Given the description of an element on the screen output the (x, y) to click on. 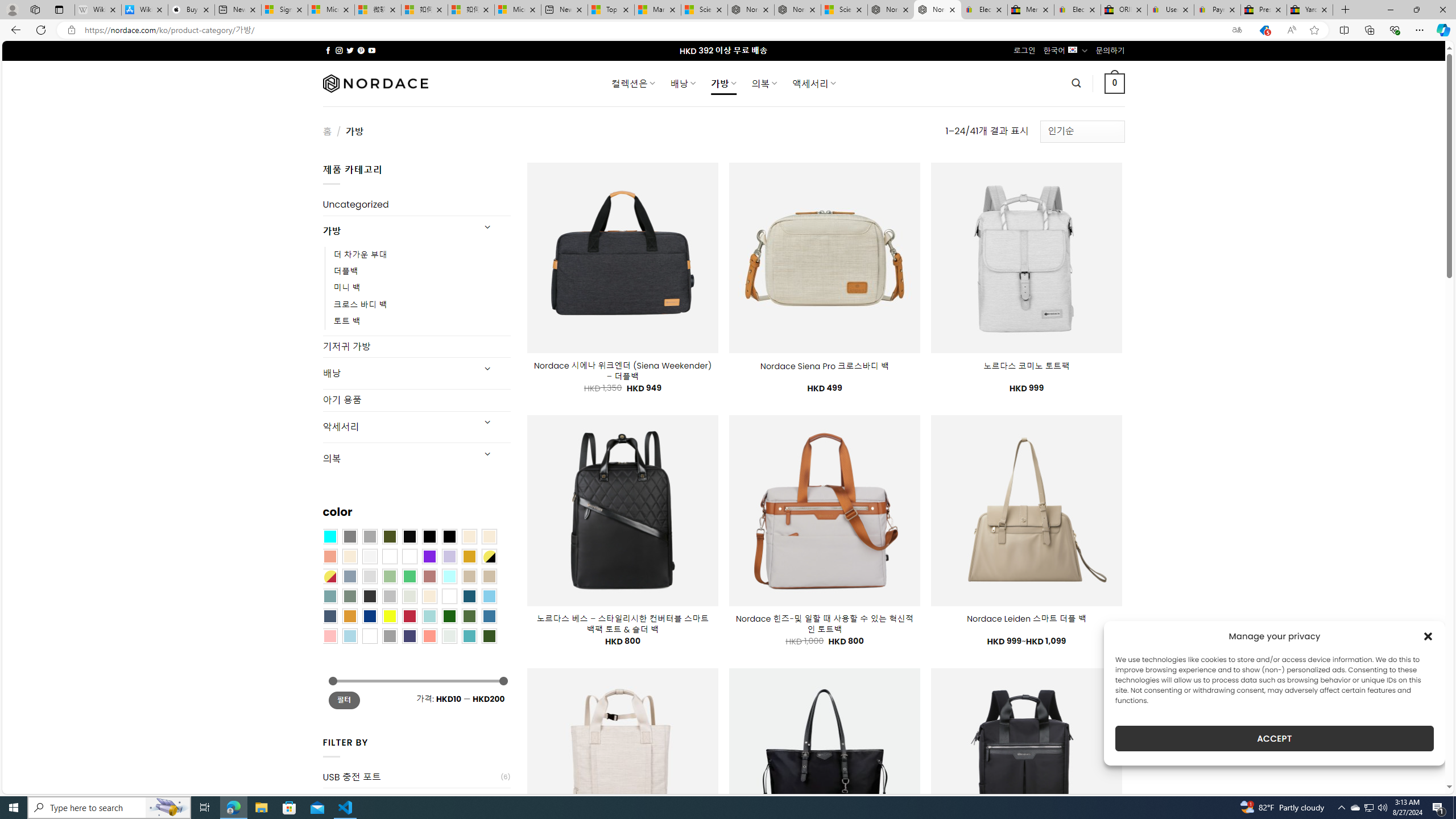
 0  (1115, 83)
